Given the description of an element on the screen output the (x, y) to click on. 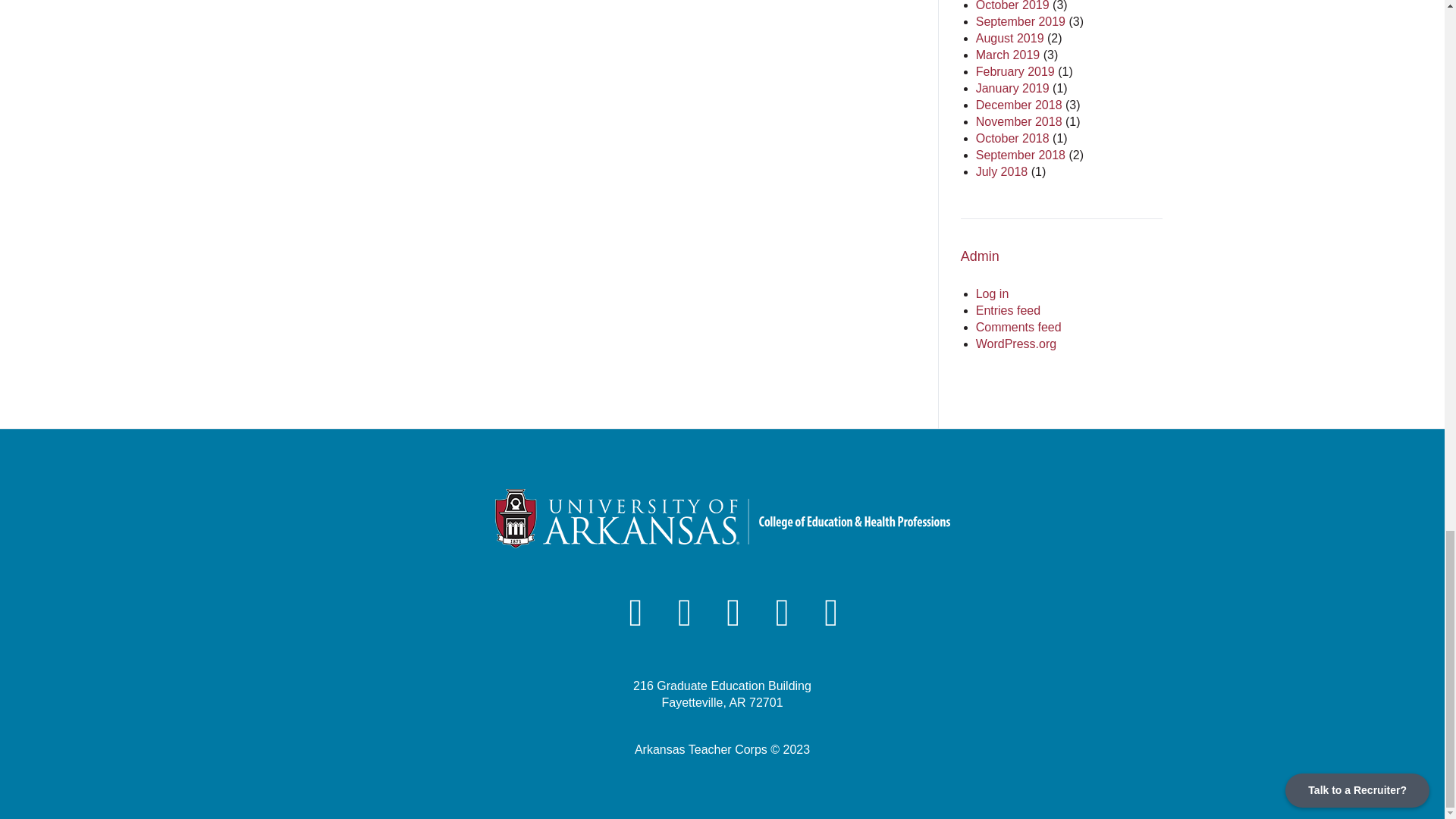
Twitter (831, 612)
Arkansas Teacher Corps (722, 517)
TikTok (782, 612)
Facebook (636, 612)
Instagram (684, 612)
LinkedIn (733, 612)
